Given the description of an element on the screen output the (x, y) to click on. 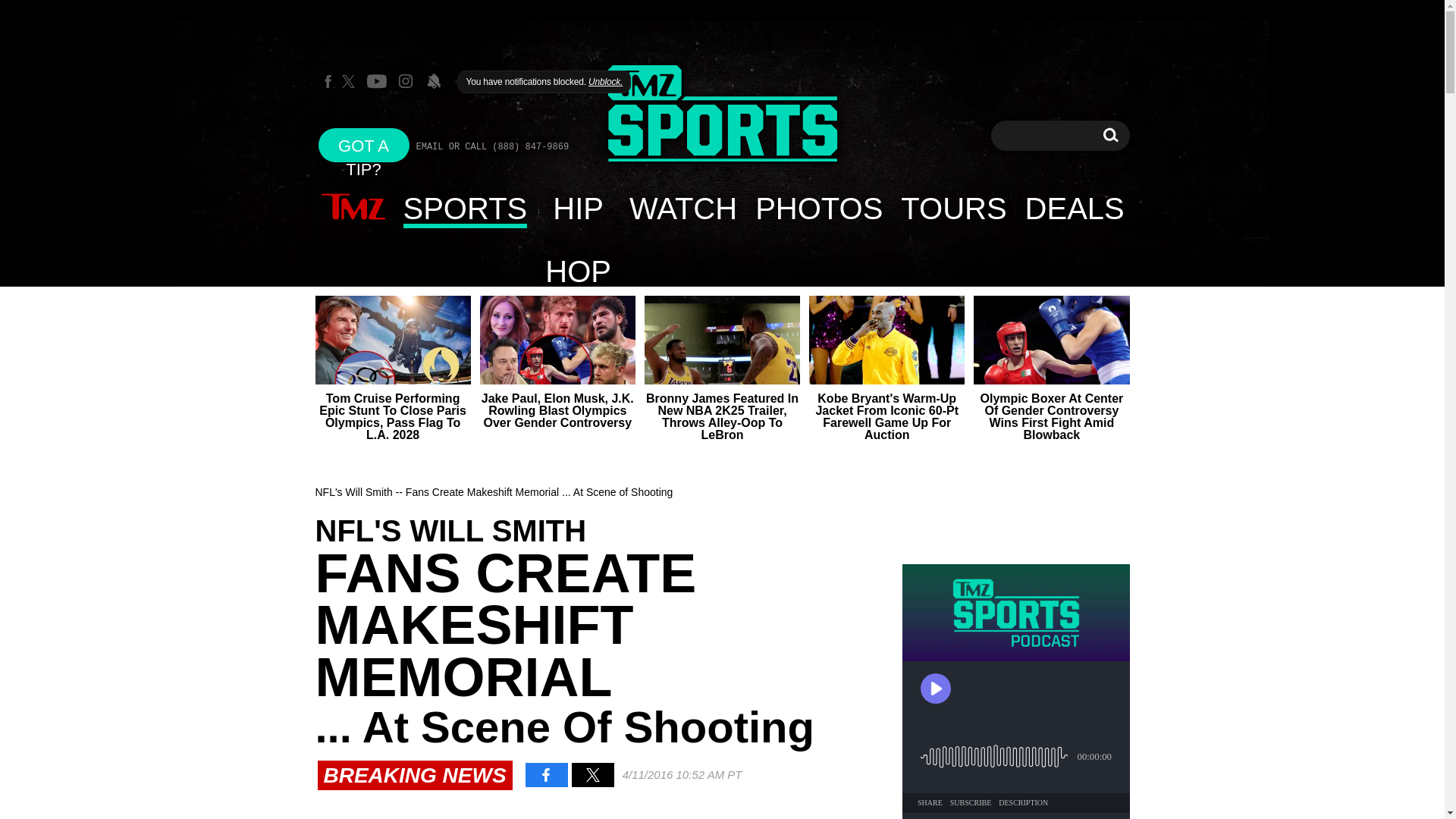
NEWS (353, 207)
HIP HOP (577, 207)
WATCH (682, 207)
GOT A TIP? (363, 144)
PHOTOS (1110, 135)
Search (818, 207)
SPORTS (1110, 134)
DEALS (465, 207)
TMZ Sports (1075, 207)
TOURS (722, 113)
TMZ Sports (952, 207)
